Given the description of an element on the screen output the (x, y) to click on. 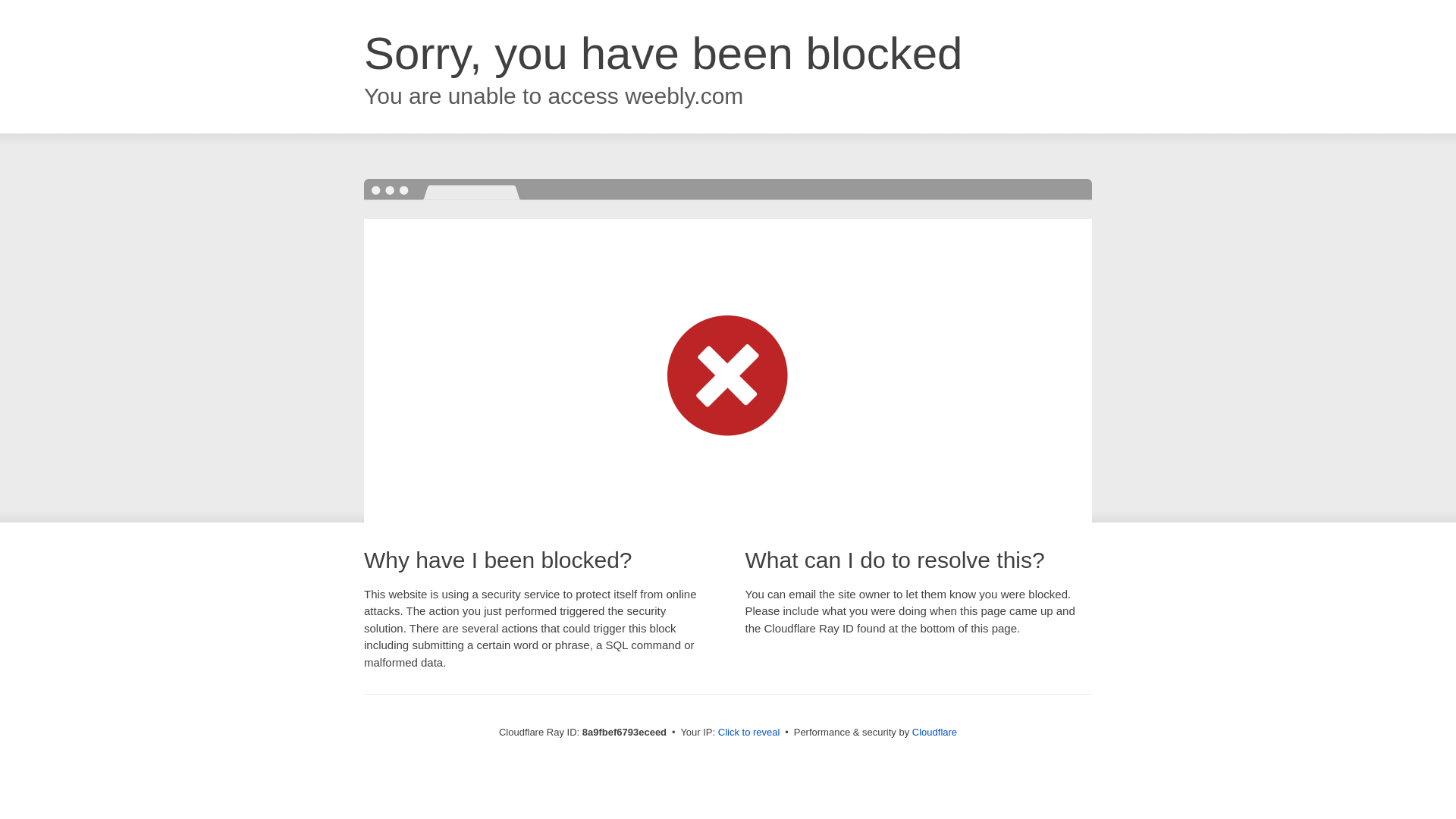
Click to reveal (748, 732)
Cloudflare (934, 731)
